Given the description of an element on the screen output the (x, y) to click on. 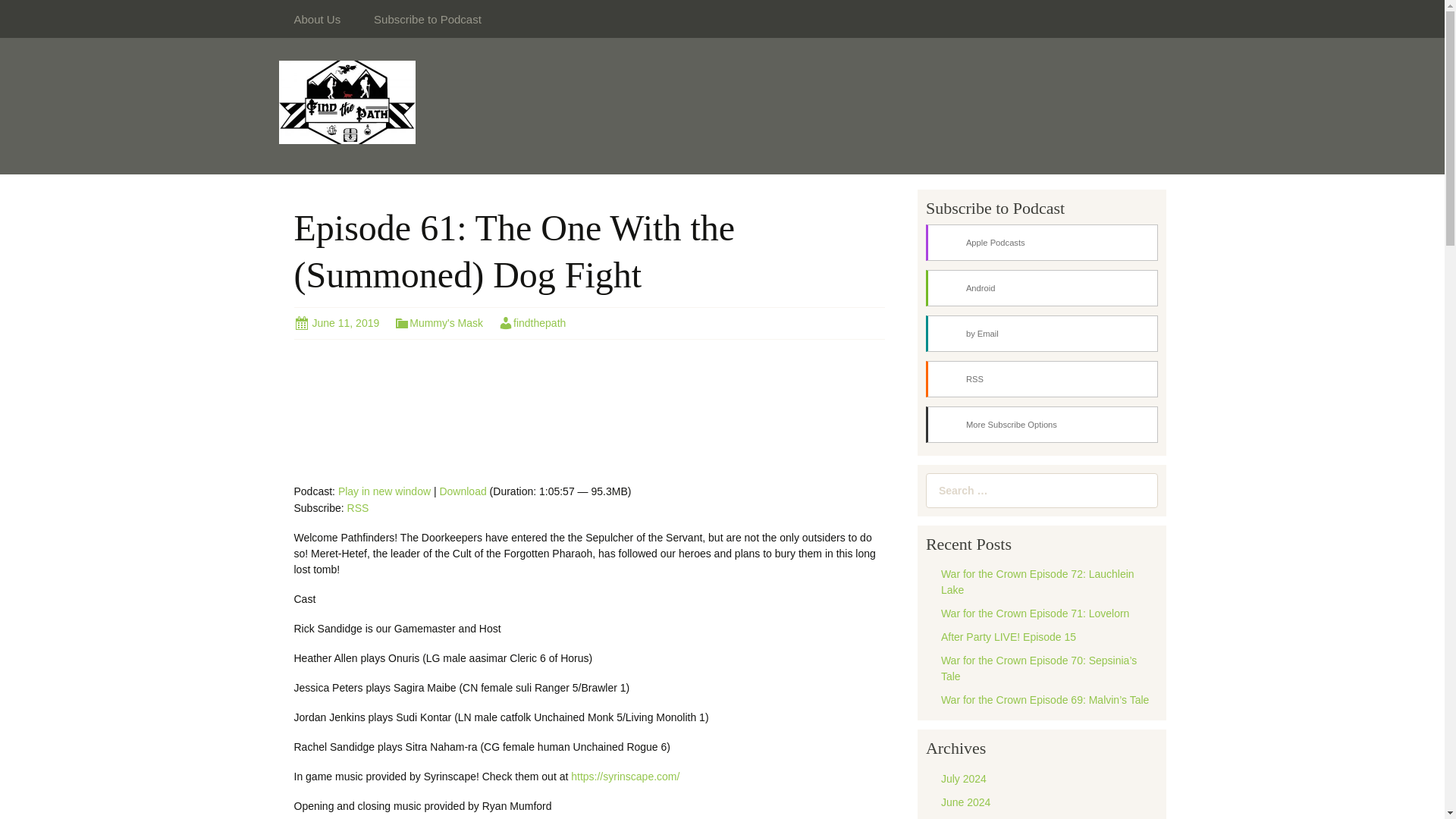
Apple Podcasts (1041, 242)
by Email (1041, 333)
After Party LIVE! Episode 15 (1007, 636)
About Us (317, 18)
More Subscribe Options (1041, 424)
Subscribe via RSS (1041, 379)
Play in new window (383, 491)
Blubrry Podcast Player (589, 413)
Search for: (1041, 490)
July 2024 (963, 778)
June 11, 2019 (337, 322)
June 2024 (965, 802)
Subscribe on Android (1041, 288)
Search (21, 11)
View all posts by findthepath (531, 322)
